Given the description of an element on the screen output the (x, y) to click on. 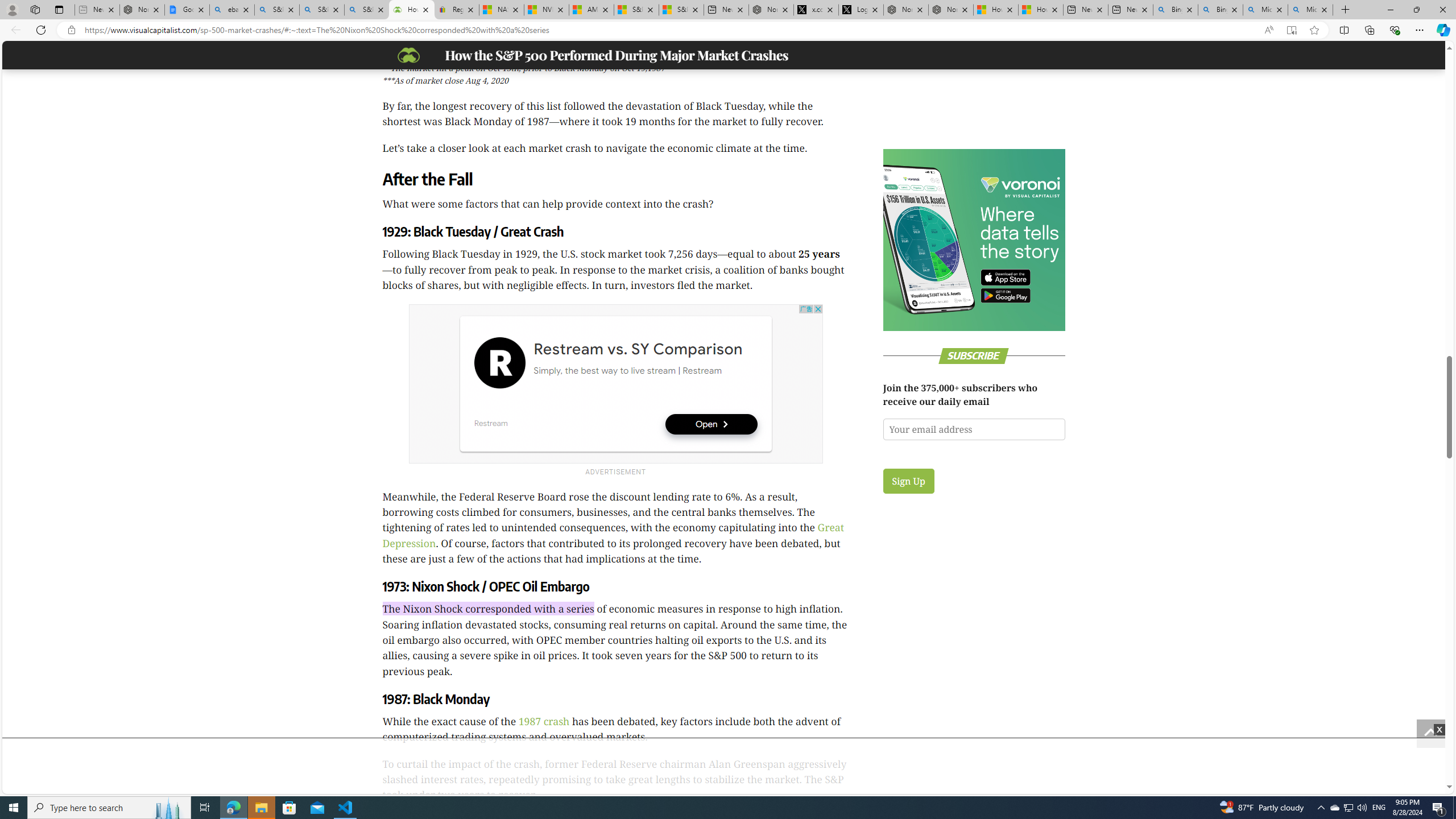
Terms (1439, 180)
S&P 500 index financial crisis decline - Search (366, 9)
Simply, the best way to live stream | Restream (627, 370)
1987 crash (543, 721)
